Given the description of an element on the screen output the (x, y) to click on. 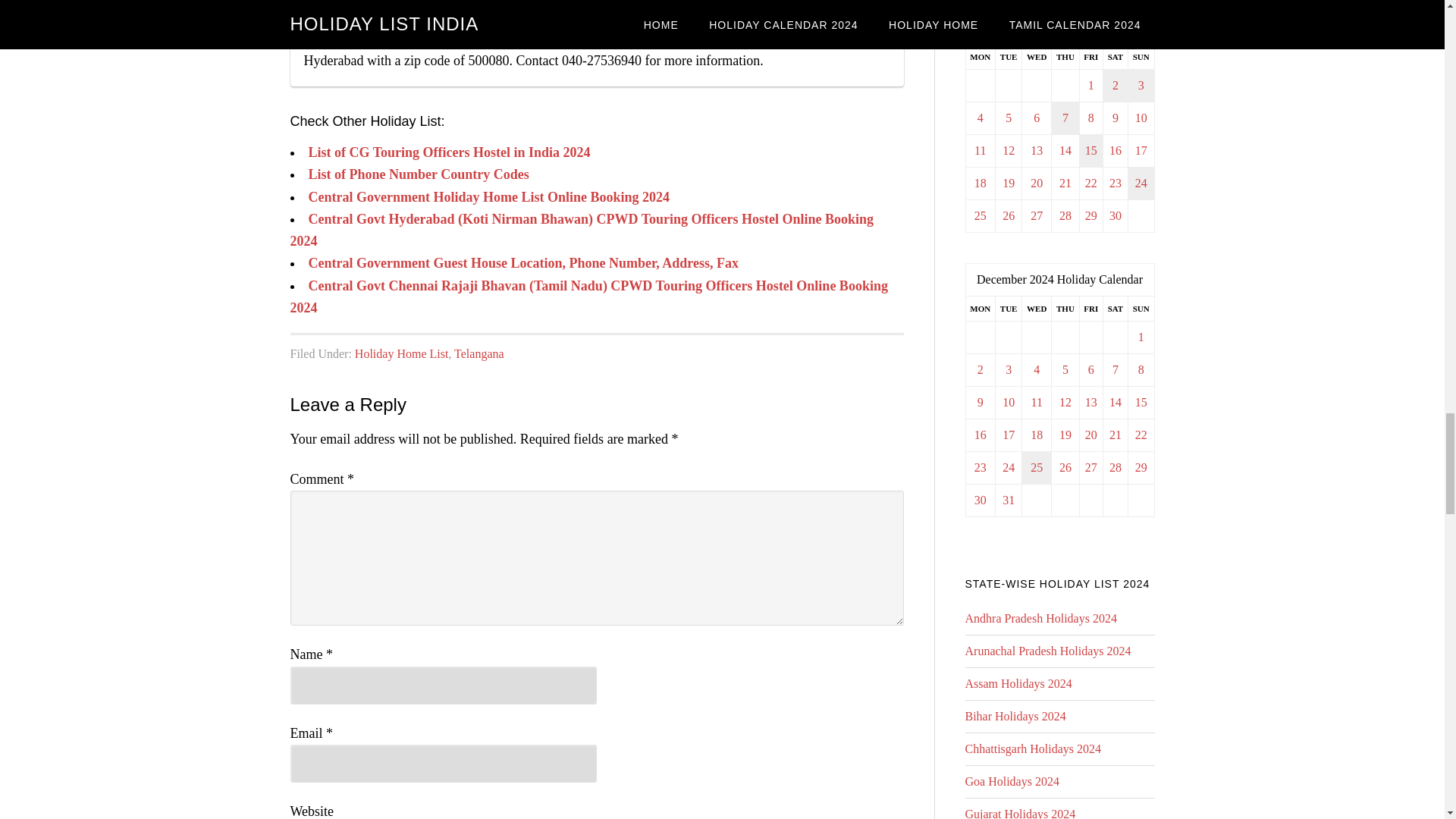
List of CG Touring Officers Hostel in India 2024 (448, 151)
List of Phone Number Country Codes (417, 174)
Central Government Holiday Home List Online Booking 2024 (488, 196)
